Given the description of an element on the screen output the (x, y) to click on. 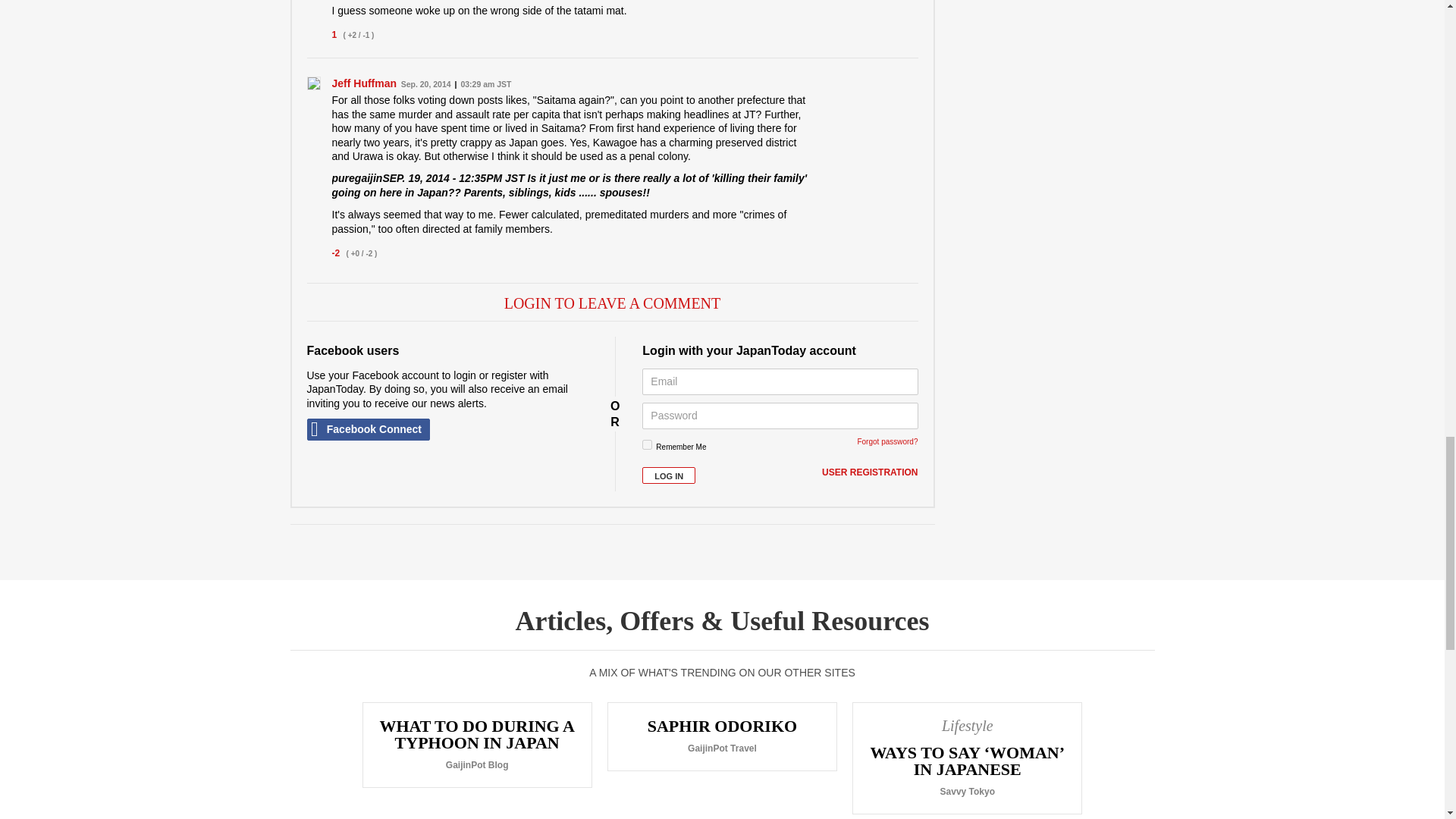
Connect with Facebook (367, 429)
Forgot password? (887, 441)
Log In (668, 475)
1 (647, 444)
User registration (869, 472)
